Given the description of an element on the screen output the (x, y) to click on. 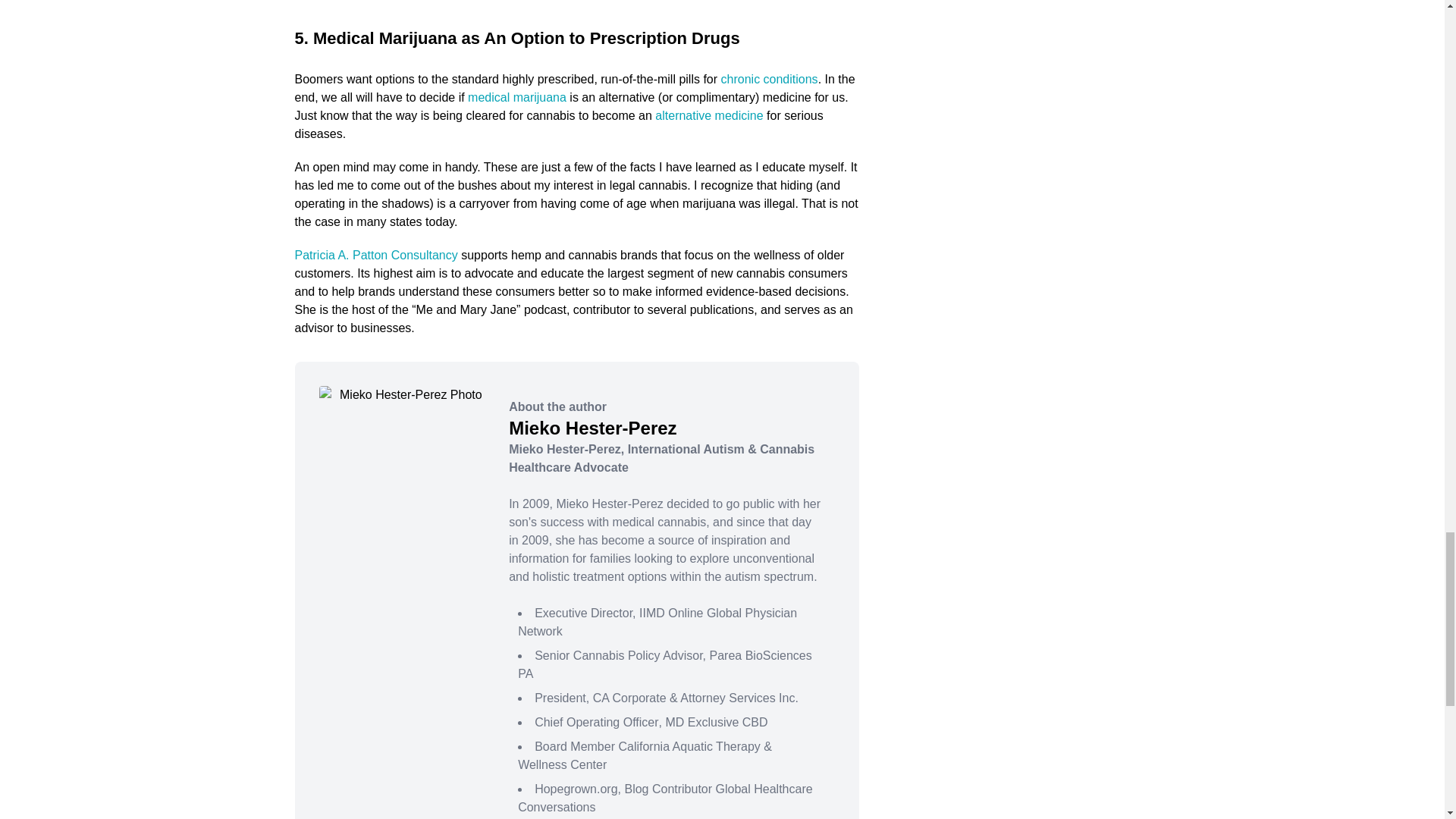
medical marijuana (518, 97)
chronic conditions (769, 78)
Patricia A. Patton Consultancy (375, 254)
alternative medicine (708, 115)
